Given the description of an element on the screen output the (x, y) to click on. 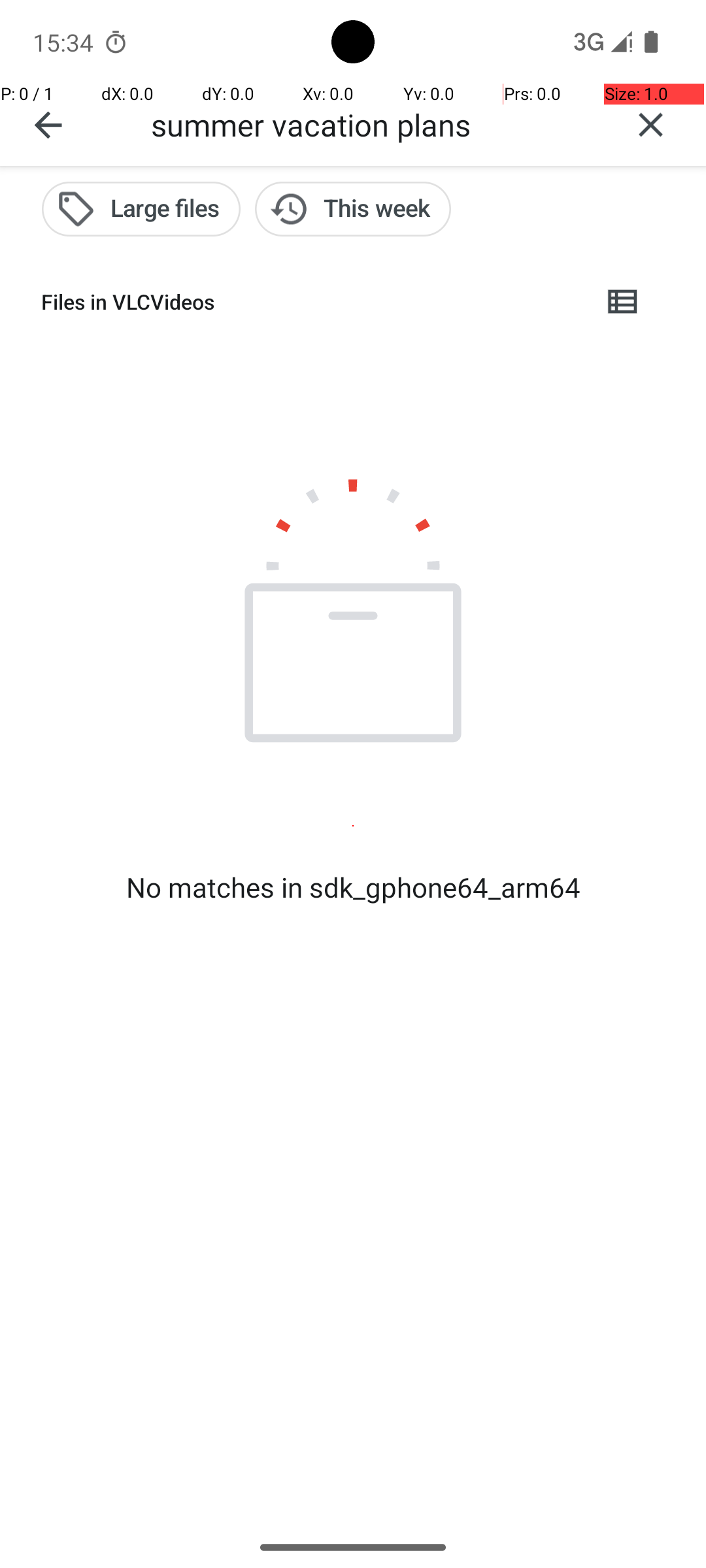
Files in VLCVideos Element type: android.widget.TextView (311, 301)
summer vacation plans Element type: android.widget.AutoCompleteTextView (373, 124)
No matches in sdk_gphone64_arm64 Element type: android.widget.TextView (352, 886)
